Given the description of an element on the screen output the (x, y) to click on. 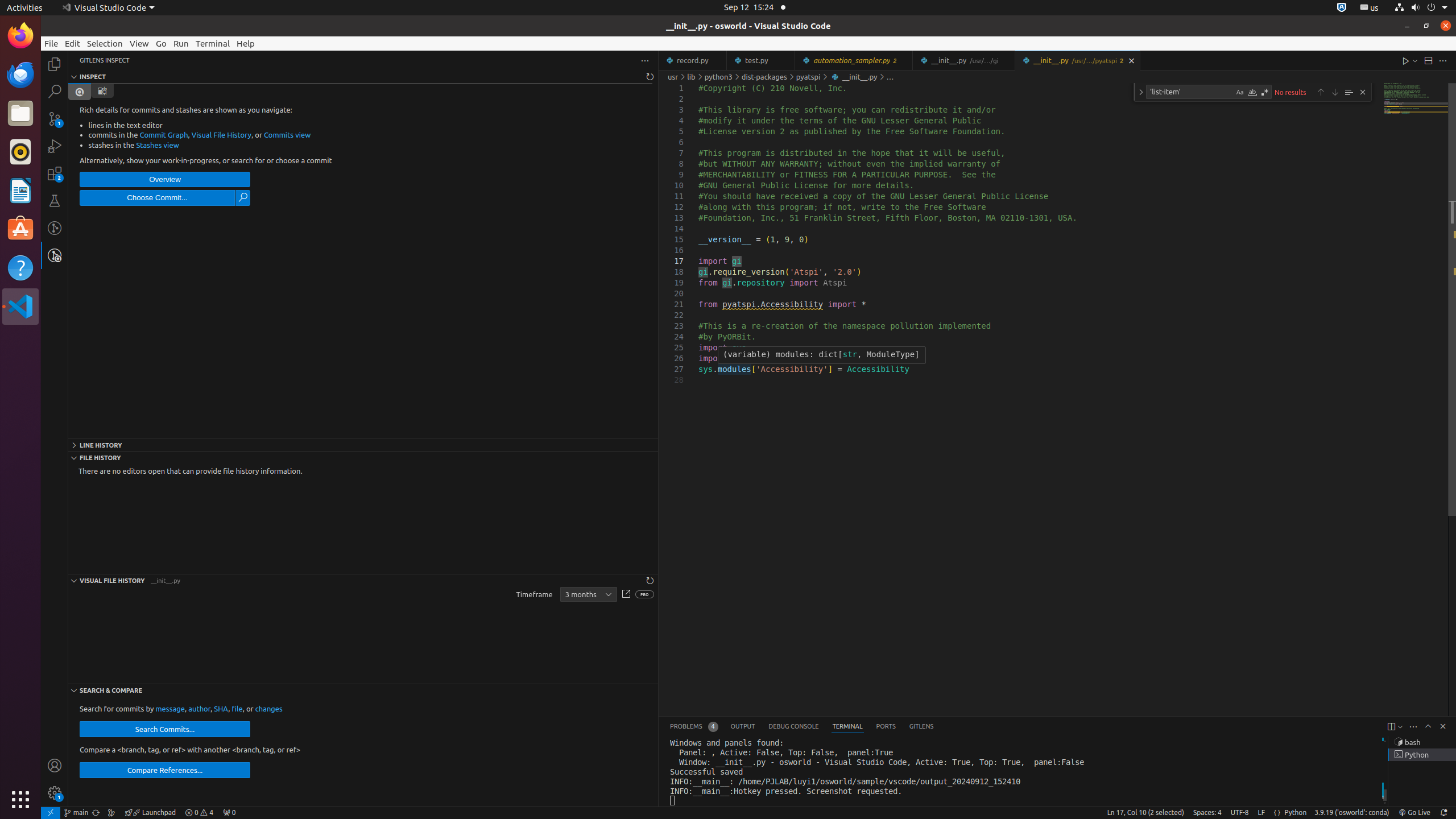
Show the GitLens Commit Graph Element type: push-button (111, 812)
Commit Graph Element type: link (163, 134)
broadcast Go Live, Click to run live server Element type: push-button (1414, 812)
Search Commits... Element type: push-button (164, 729)
